Given the description of an element on the screen output the (x, y) to click on. 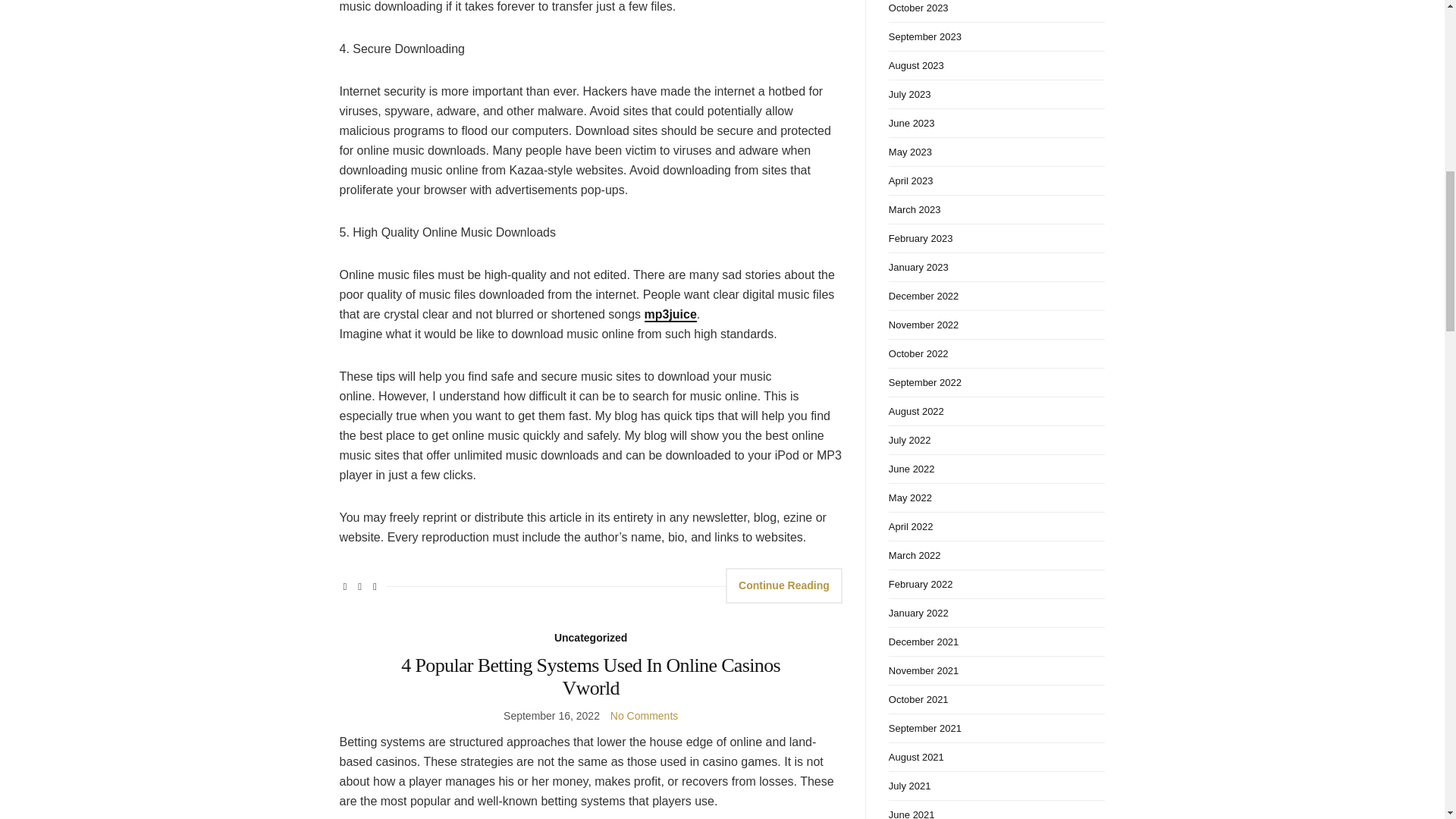
Continue Reading (784, 585)
October 2023 (996, 11)
No Comments (644, 715)
Uncategorized (590, 638)
4 Popular Betting Systems Used In Online Casinos Vworld (590, 676)
mp3juice (671, 314)
